Given the description of an element on the screen output the (x, y) to click on. 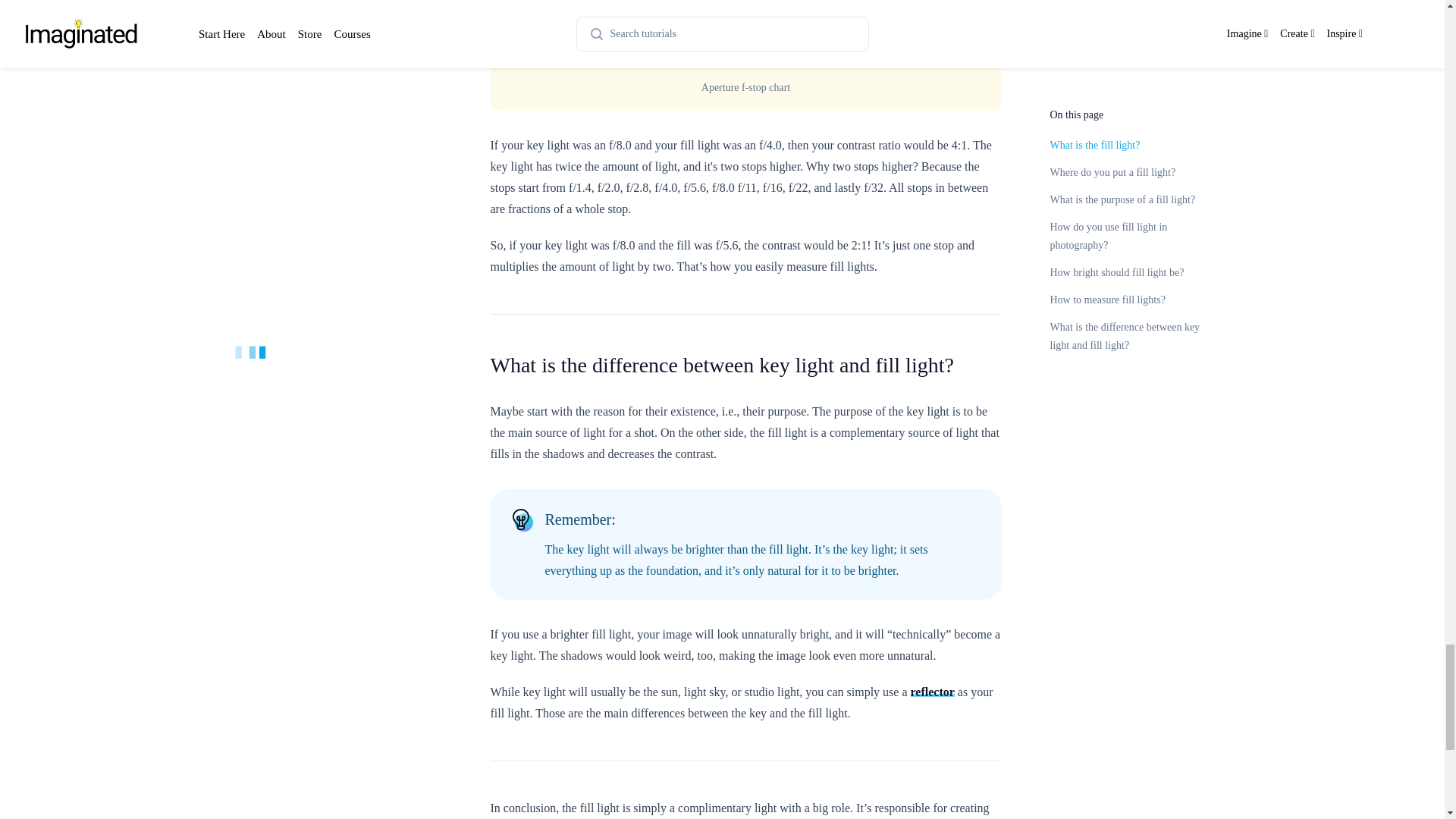
reflector (933, 691)
Aperture f-stop chart (745, 36)
